Given the description of an element on the screen output the (x, y) to click on. 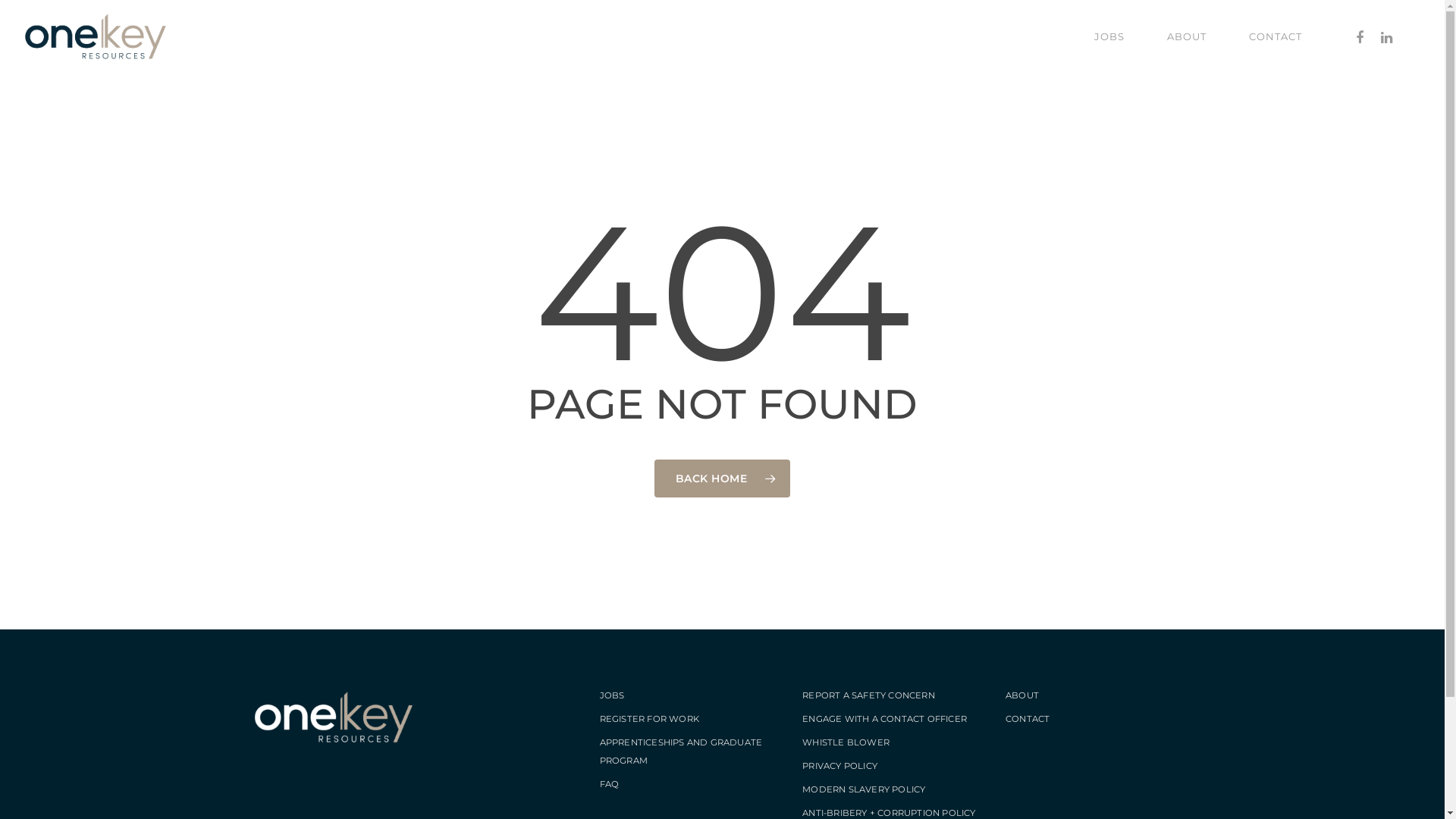
BACK HOME Element type: text (722, 478)
FACEBOOK Element type: text (1359, 36)
ANTI-BRIBERY + CORRUPTION POLICY Element type: text (888, 812)
FAQ Element type: text (609, 783)
CONTACT Element type: text (1275, 35)
REGISTER FOR WORK Element type: text (649, 718)
ABOUT Element type: text (1021, 695)
LINKEDIN Element type: text (1386, 36)
ABOUT Element type: text (1186, 35)
JOBS Element type: text (1109, 35)
ENGAGE WITH A CONTACT OFFICER Element type: text (884, 718)
WHISTLE BLOWER Element type: text (845, 742)
JOBS Element type: text (611, 695)
MODERN SLAVERY POLICY Element type: text (863, 789)
APPRENTICESHIPS AND GRADUATE PROGRAM Element type: text (680, 751)
PRIVACY POLICY Element type: text (839, 765)
CONTACT Element type: text (1027, 718)
REPORT A SAFETY CONCERN Element type: text (868, 695)
